Given the description of an element on the screen output the (x, y) to click on. 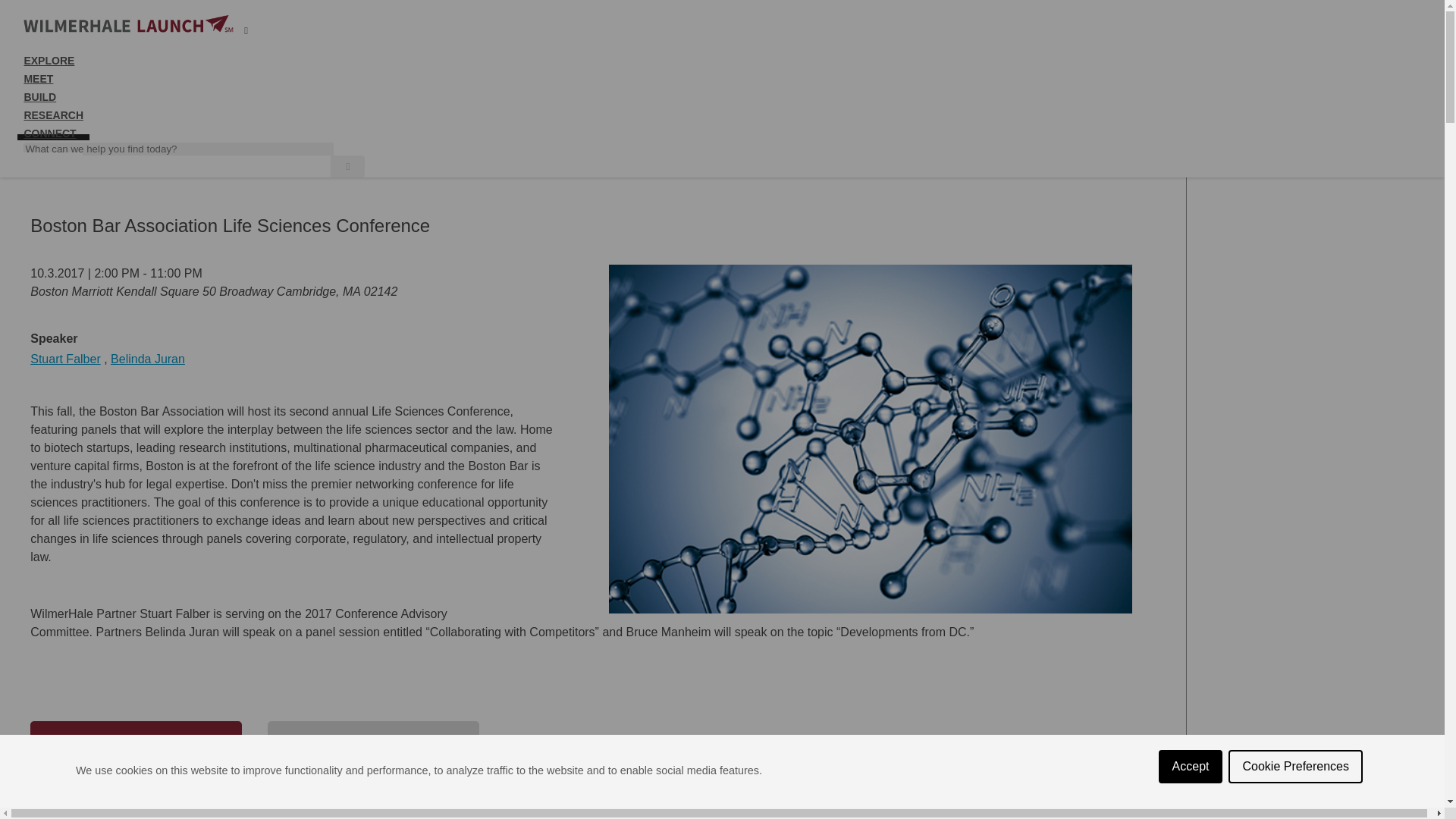
Cookie Preferences (1295, 806)
Accept (1190, 816)
EXPLORE (48, 67)
Toggle navigation (245, 30)
